Given the description of an element on the screen output the (x, y) to click on. 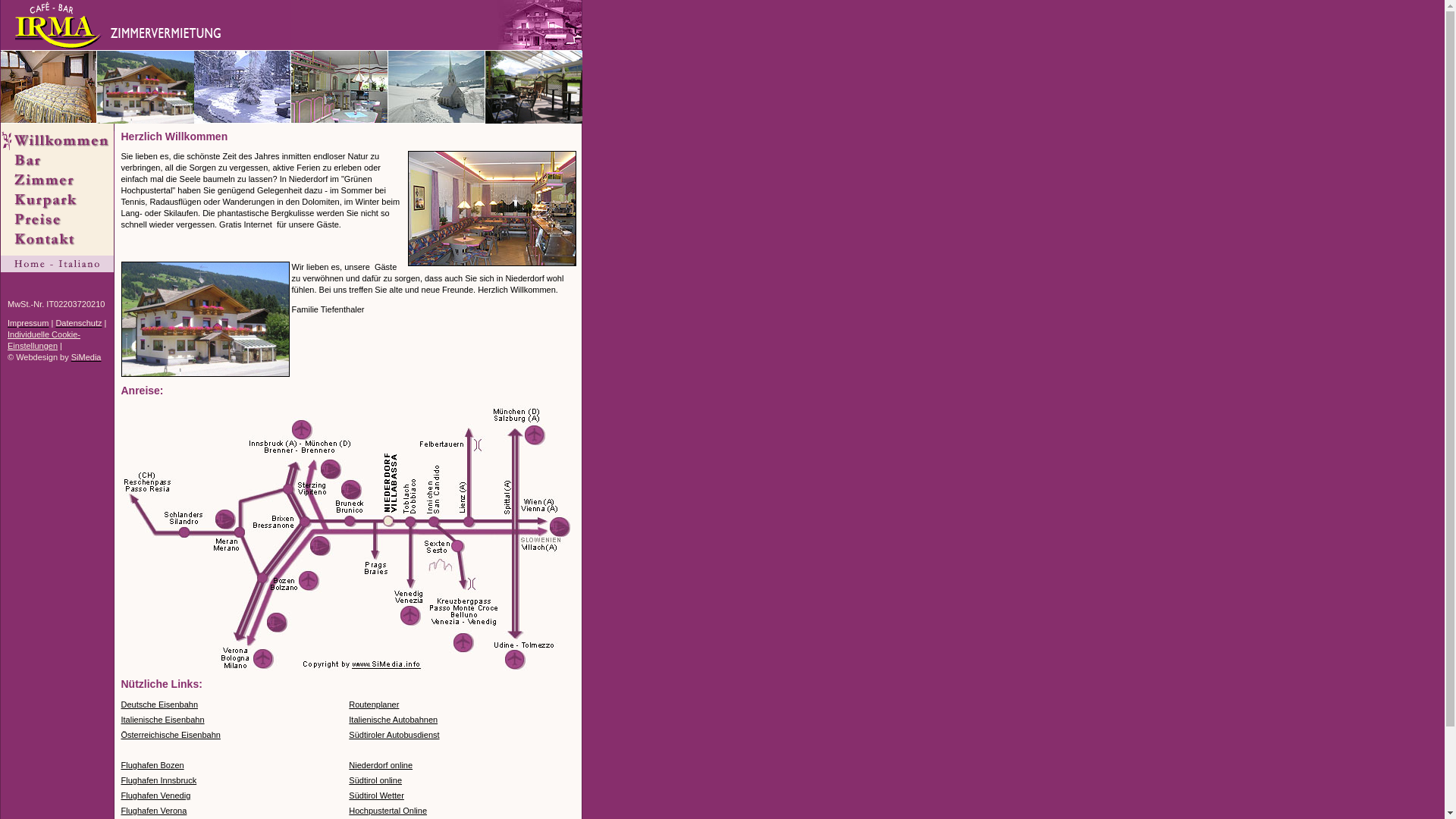
Niederdorf online Element type: text (380, 764)
Impressum Element type: text (27, 322)
Flughafen Innsbruck Element type: text (159, 779)
Flughafen Venedig Element type: text (156, 795)
Hochpustertal Online Element type: text (387, 810)
Datenschutz Element type: text (78, 322)
Flughafen Bozen Element type: text (152, 764)
Routenplaner Element type: text (373, 704)
SiMedia Element type: text (86, 356)
Italienische Eisenbahn Element type: text (162, 719)
Deutsche Eisenbahn Element type: text (159, 704)
Flughafen Verona Element type: text (154, 810)
Italienische Autobahnen Element type: text (392, 719)
Individuelle Cookie-Einstellungen Element type: text (43, 339)
